Given the description of an element on the screen output the (x, y) to click on. 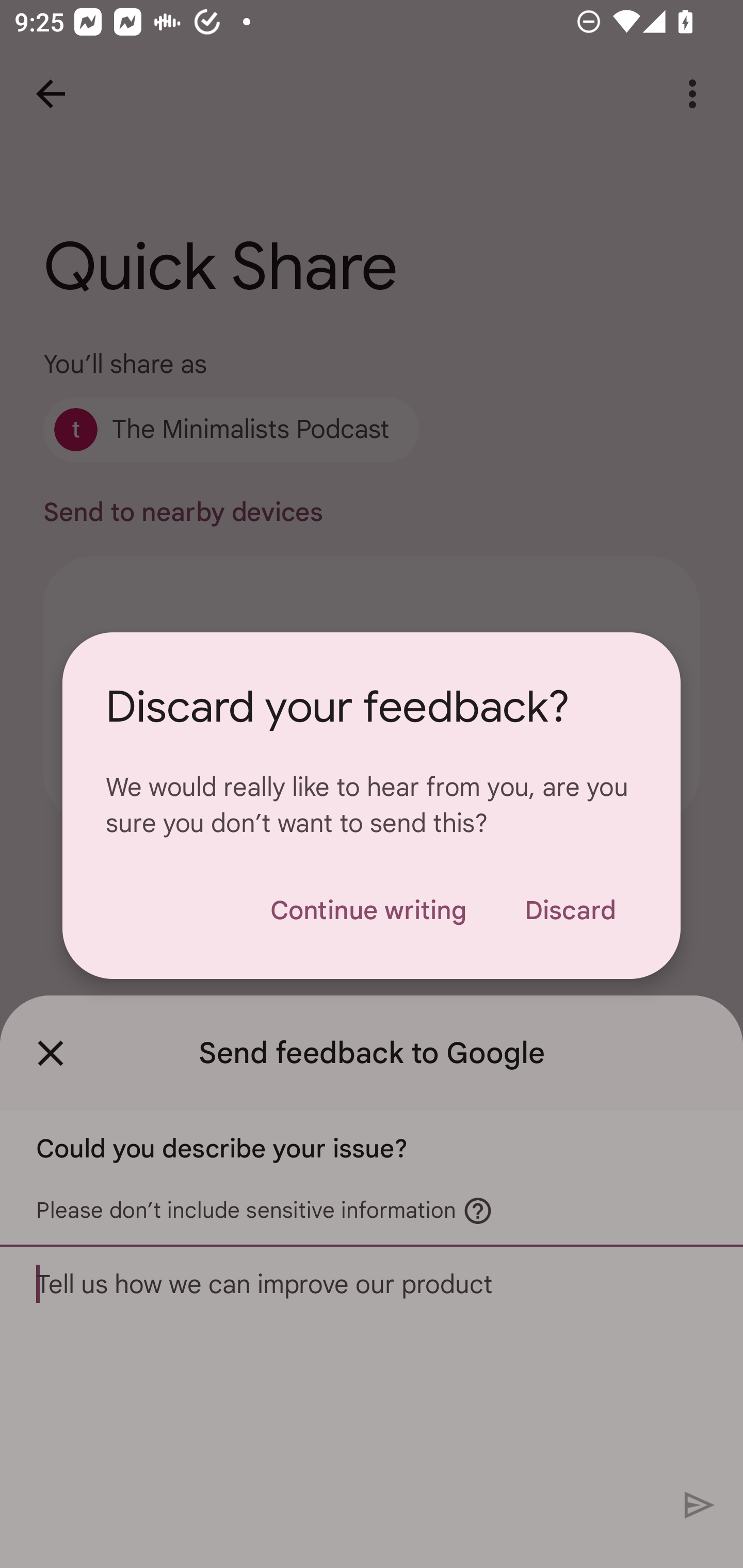
Continue writing (368, 910)
Discard (569, 910)
